Given the description of an element on the screen output the (x, y) to click on. 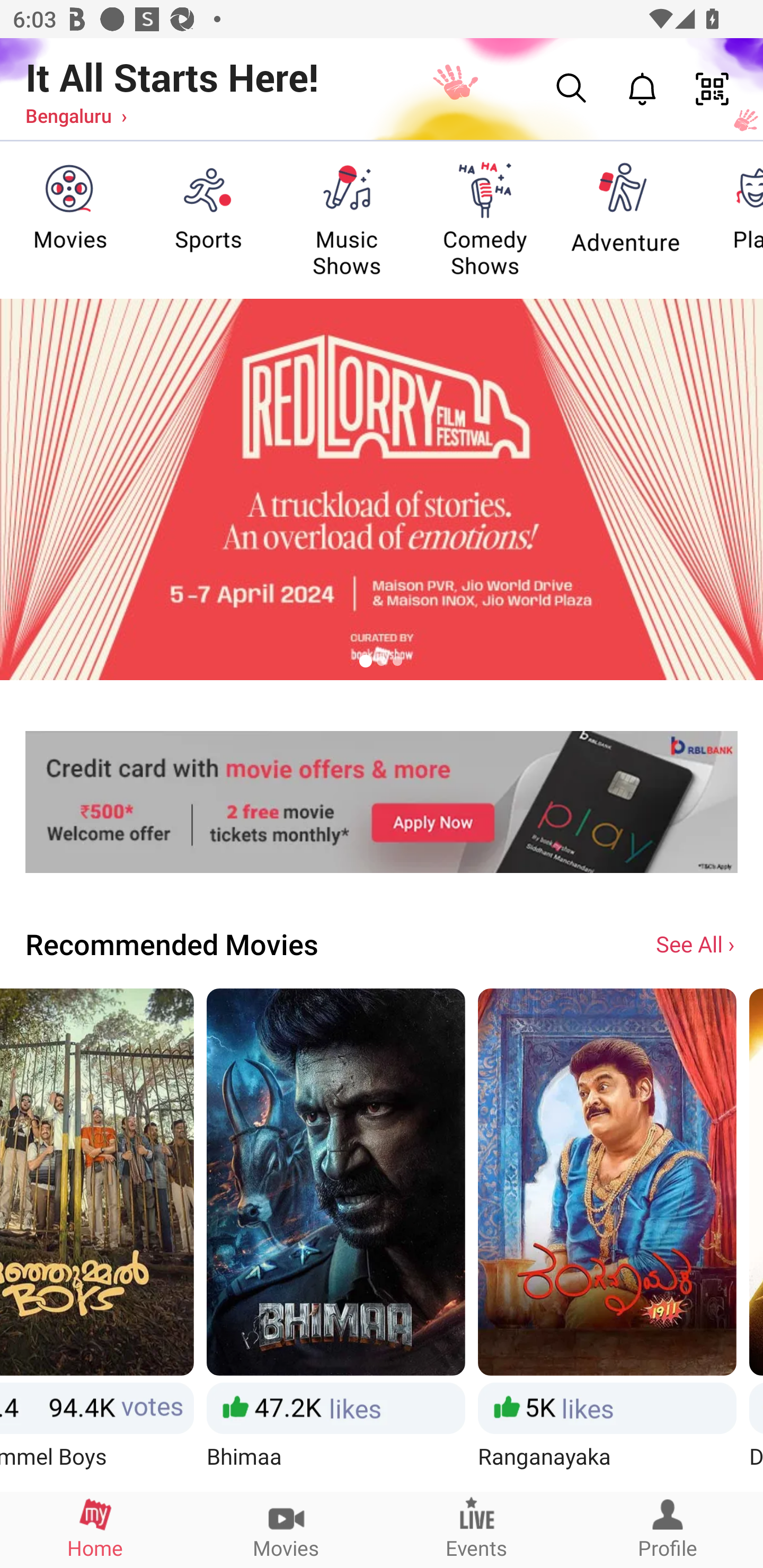
Bengaluru  › (76, 114)
See All › (696, 943)
Manjummel Boys (96, 1239)
Bhimaa (335, 1239)
Ranganayaka (606, 1239)
Home (95, 1529)
Movies (285, 1529)
Events (476, 1529)
Profile (667, 1529)
